Given the description of an element on the screen output the (x, y) to click on. 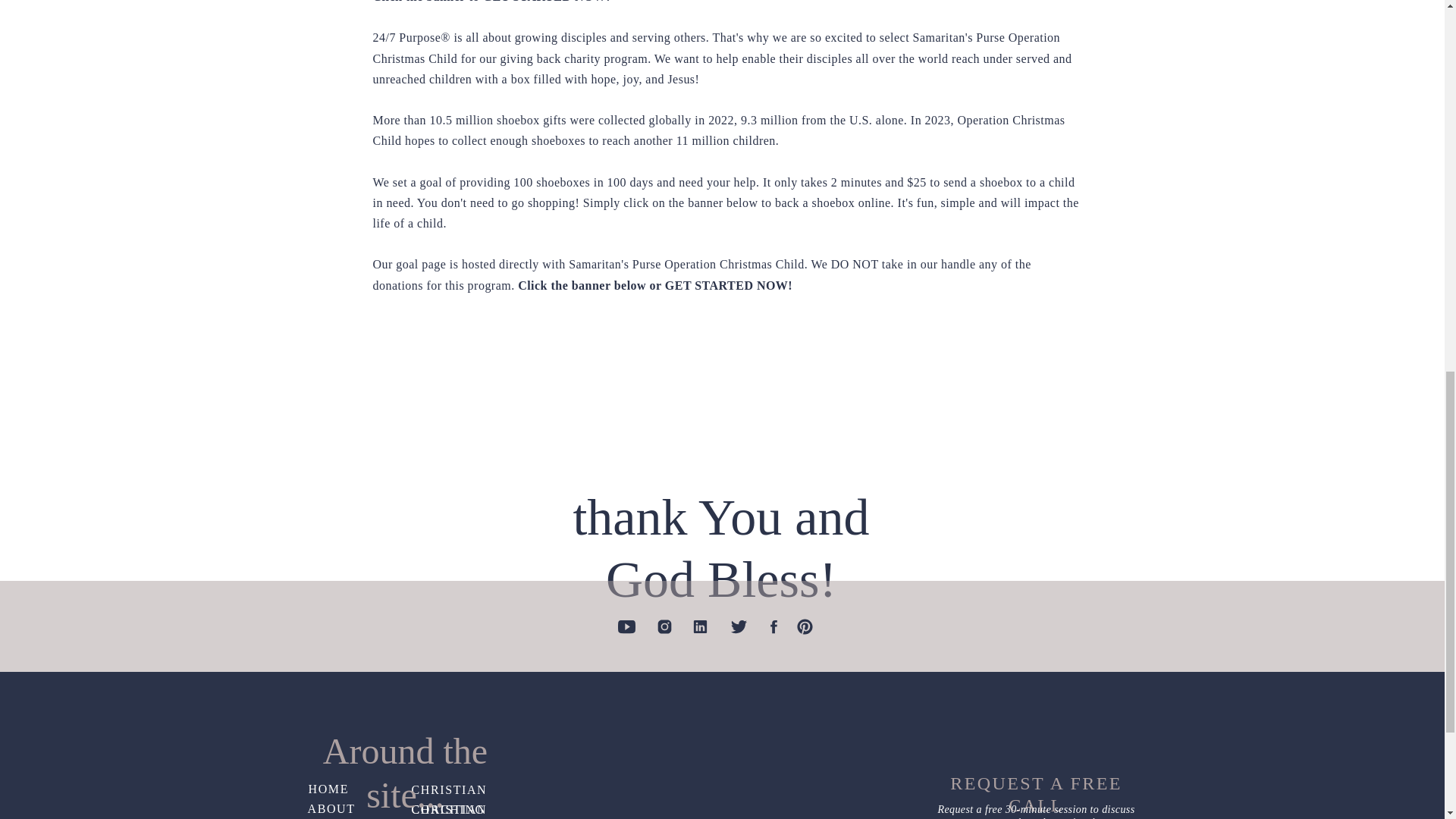
CHRISTIAN COACHING (474, 790)
HOME (355, 789)
CHRISTIAN SPEAKER (468, 809)
Around the site... (406, 749)
ABOUT TERESA (355, 809)
